Given the description of an element on the screen output the (x, y) to click on. 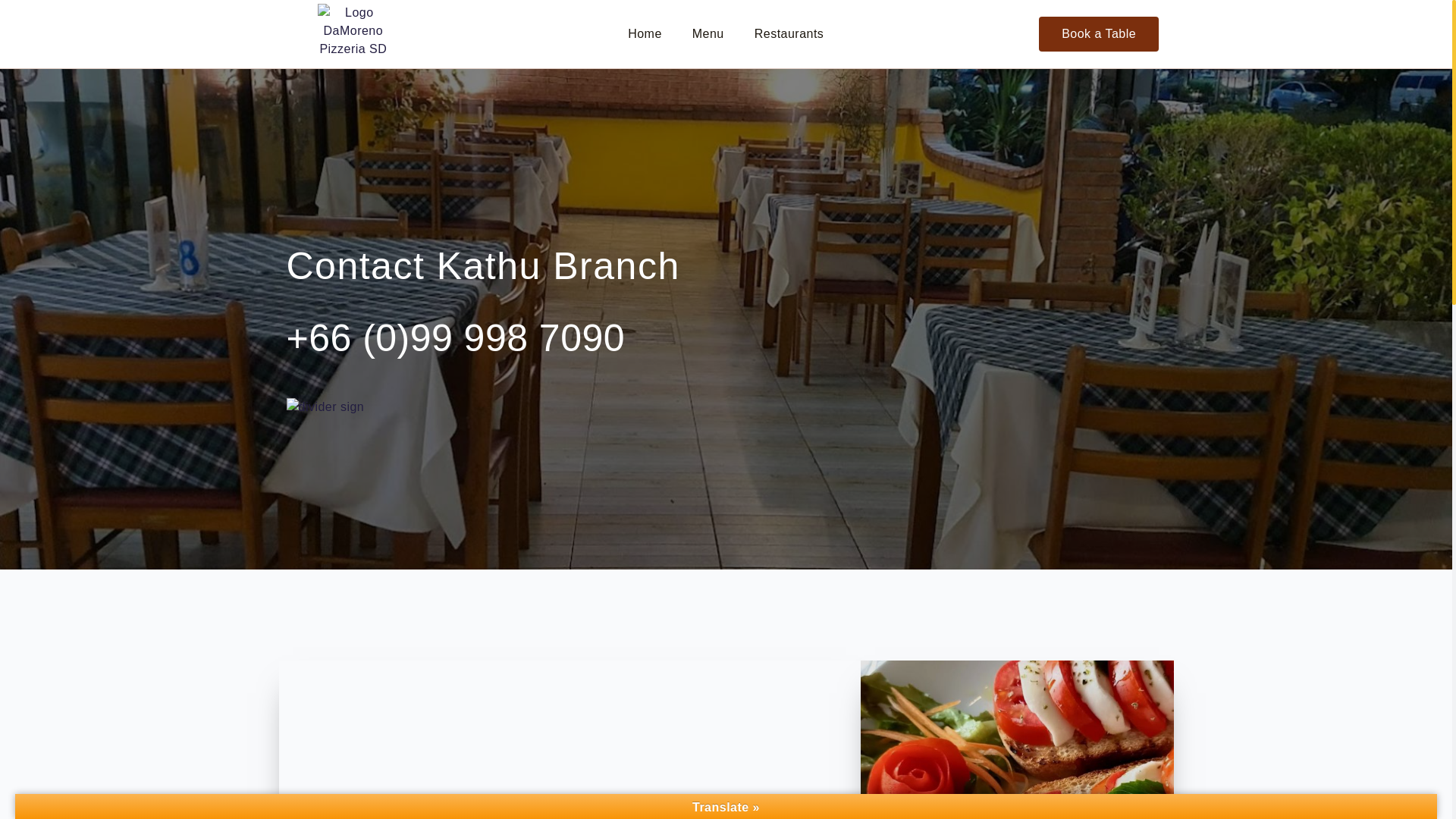
Home (644, 33)
Book a Table (1098, 33)
Menu (708, 33)
Restaurants (789, 33)
